Given the description of an element on the screen output the (x, y) to click on. 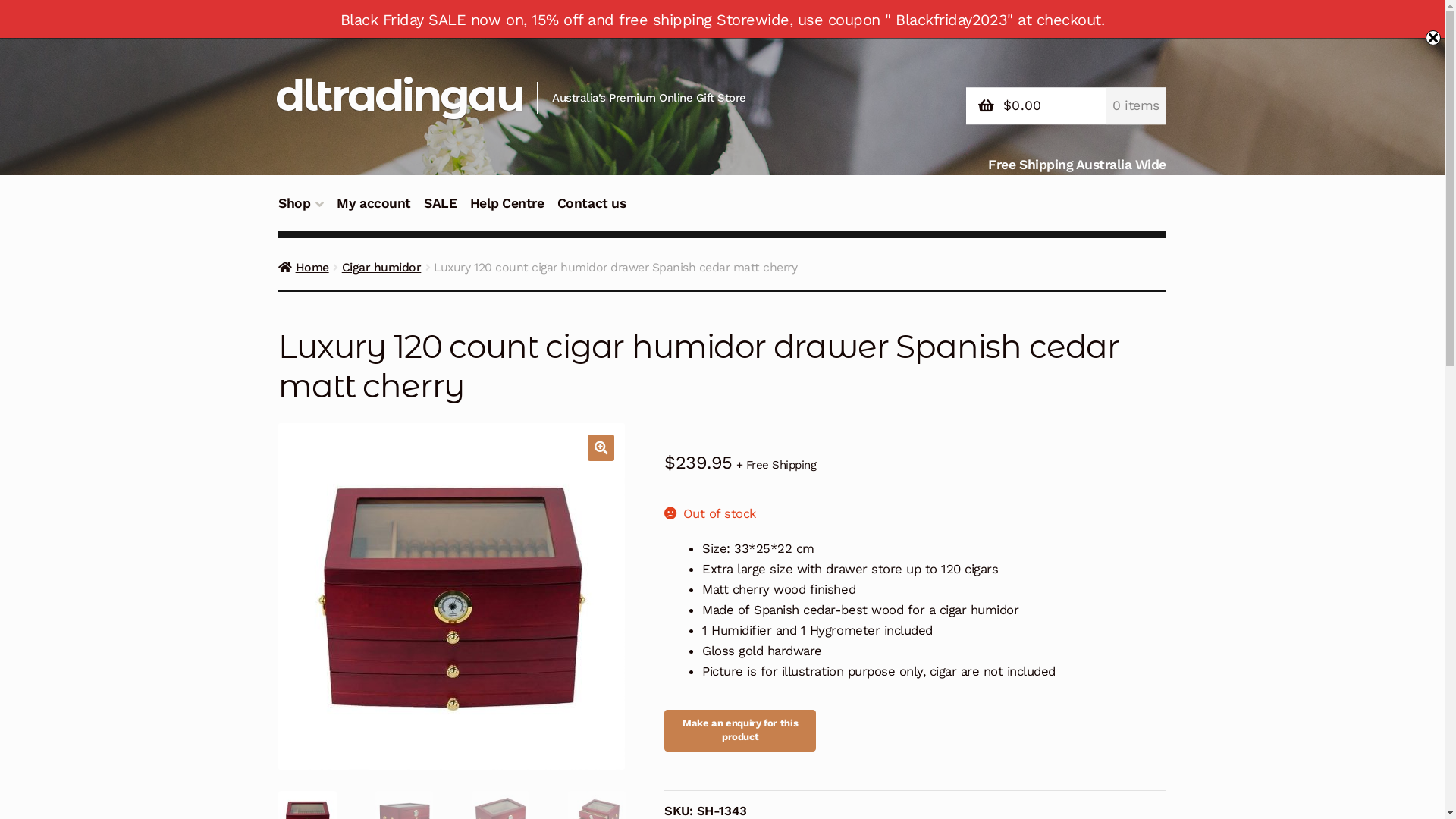
Shop Element type: text (301, 211)
$0.00
0 items Element type: text (1066, 106)
Blog Element type: text (356, 18)
Home Element type: text (303, 267)
dltradingau Element type: text (399, 95)
My account Element type: text (373, 211)
Contact us Element type: text (591, 211)
Cigar humidor Element type: text (381, 267)
SH-1343 C (2) Element type: hover (451, 596)
Help Centre Element type: text (506, 211)
SALE Element type: text (440, 211)
About Us Element type: text (306, 18)
